Given the description of an element on the screen output the (x, y) to click on. 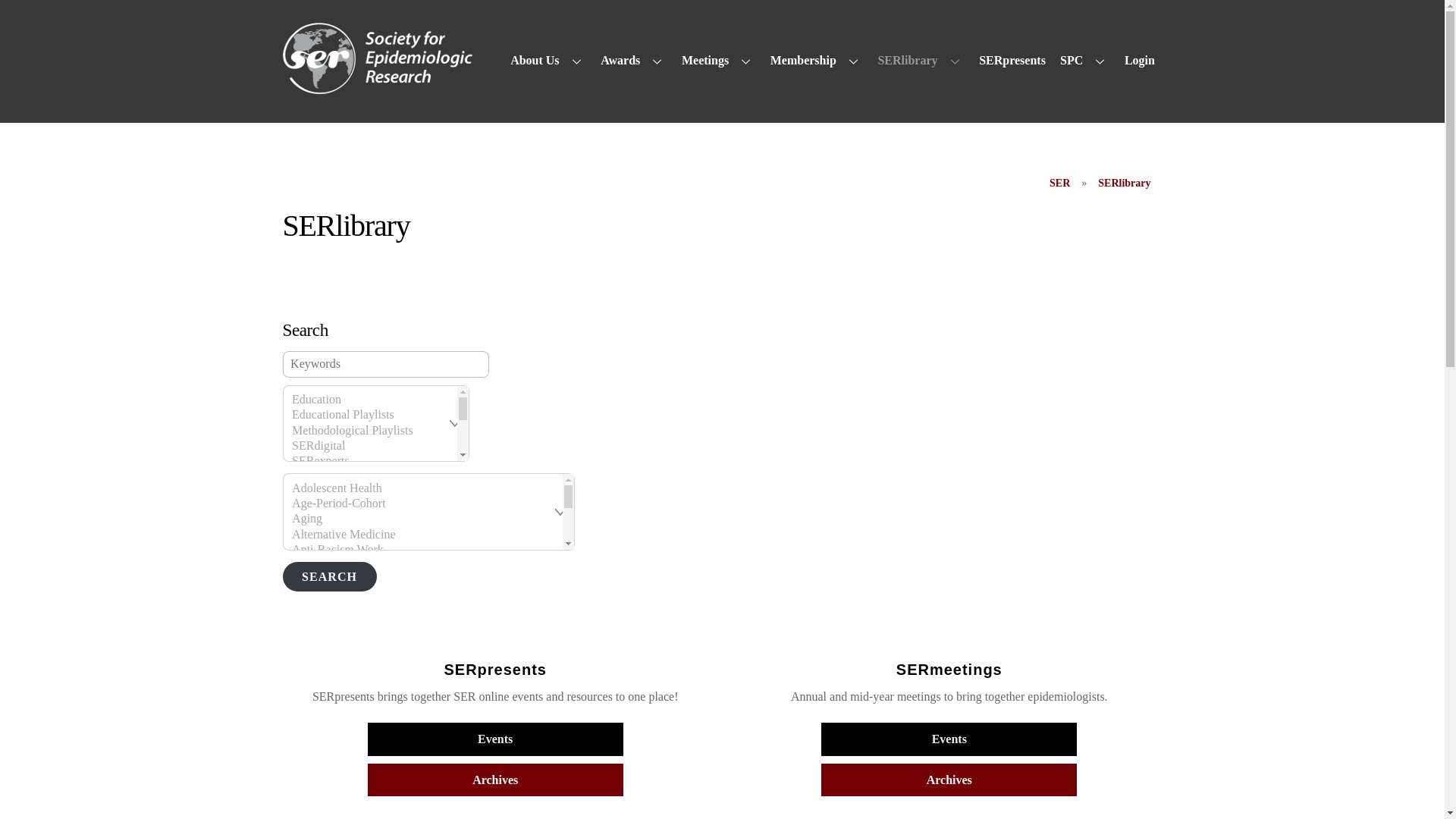
Society for Epidemiologic Research (376, 87)
SER (1059, 183)
SERlibrary (1123, 183)
Awards (634, 61)
Select Tags (428, 511)
Meetings (718, 61)
About Us (548, 61)
Select Categories (375, 423)
